Given the description of an element on the screen output the (x, y) to click on. 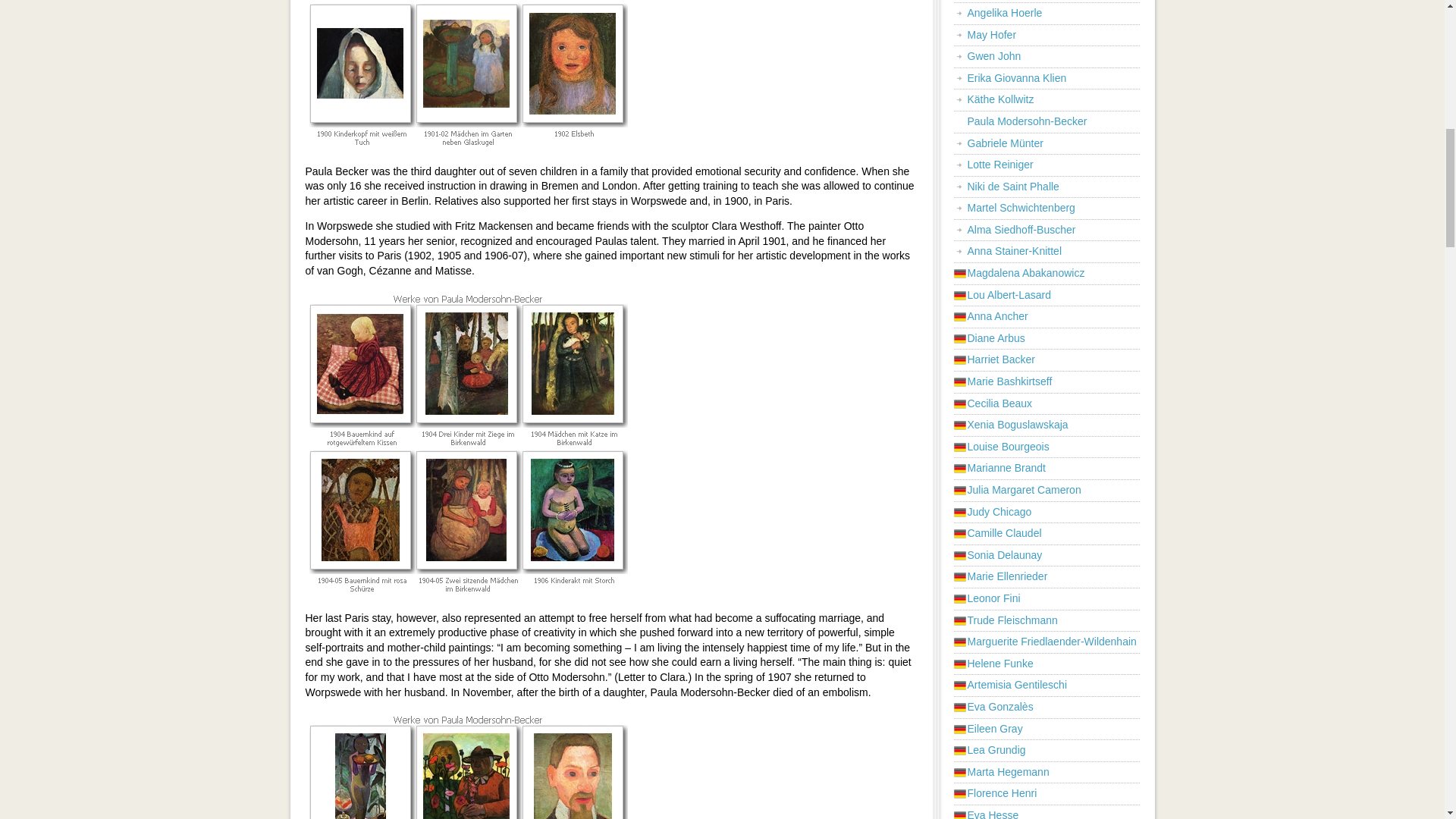
available in German (1024, 490)
available in German (1009, 295)
available in German (1018, 424)
Werke von Paula Modersohn-Becker (467, 764)
Werke von Paula Modersohn-Becker (467, 76)
available in German (997, 316)
available in German (1008, 446)
available in German (1000, 403)
available in German (996, 337)
available in German (1010, 381)
